Given the description of an element on the screen output the (x, y) to click on. 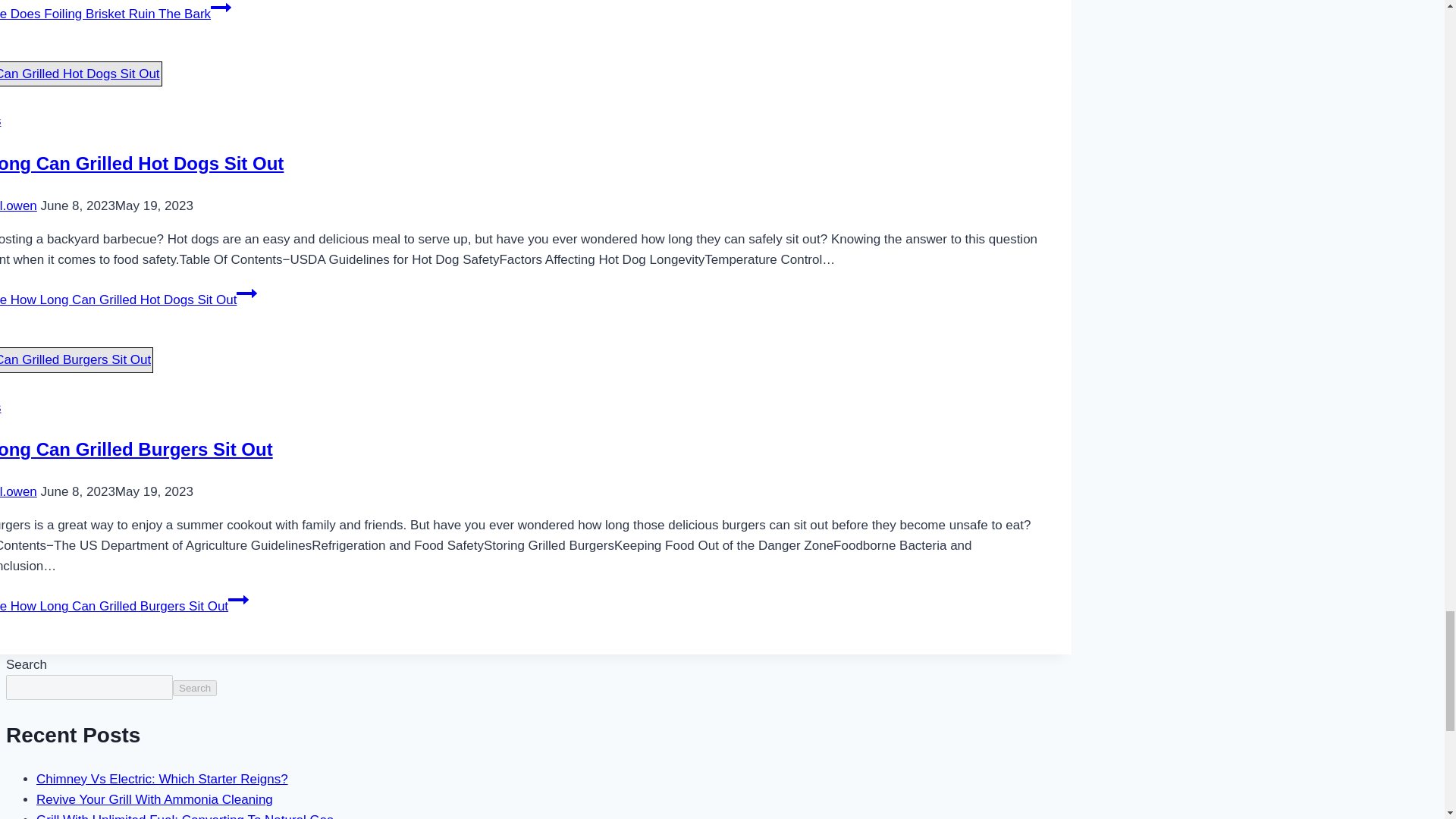
Continue (221, 9)
Continue (246, 292)
Continue (238, 599)
